Given the description of an element on the screen output the (x, y) to click on. 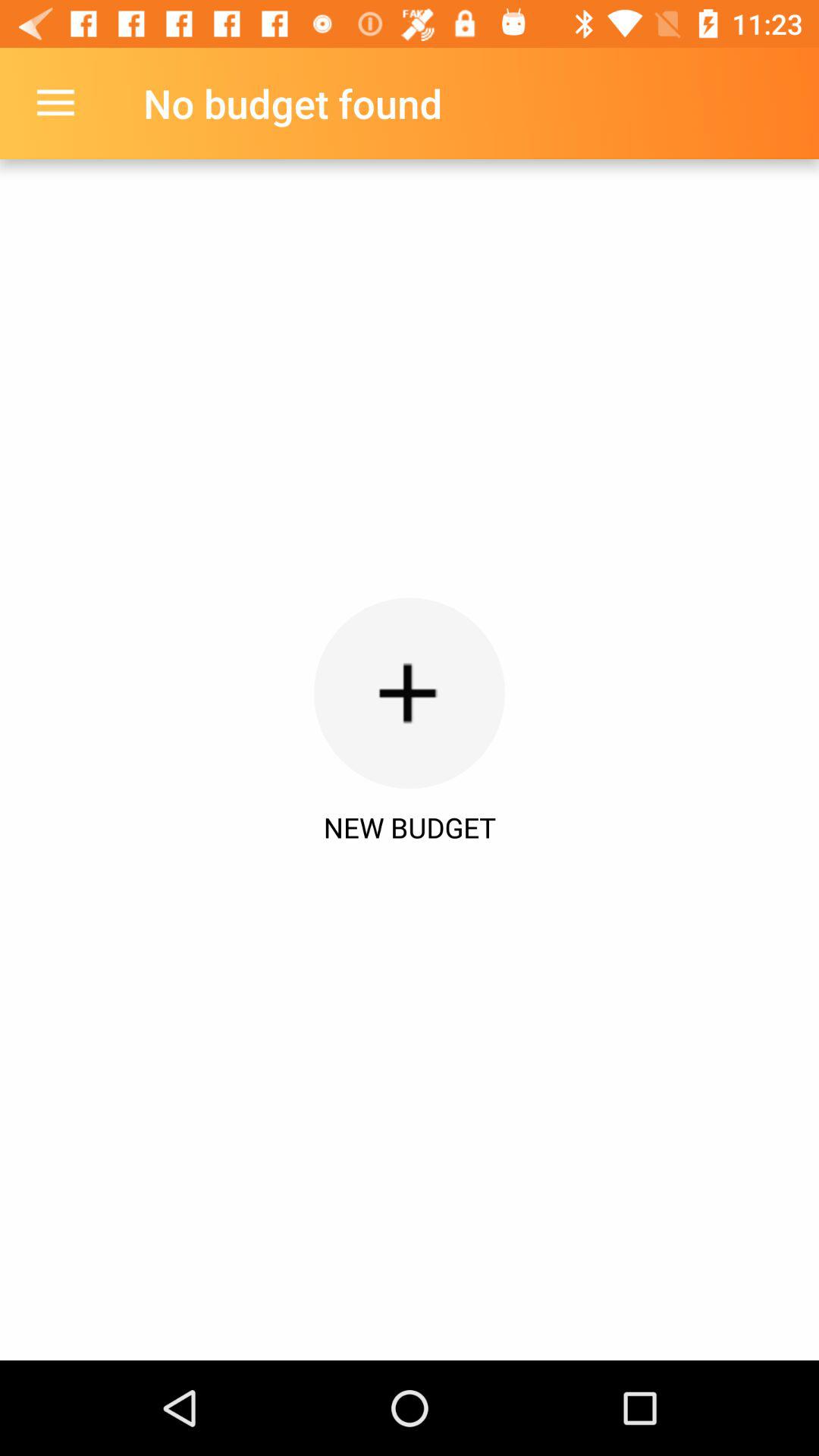
go to add (409, 692)
